Given the description of an element on the screen output the (x, y) to click on. 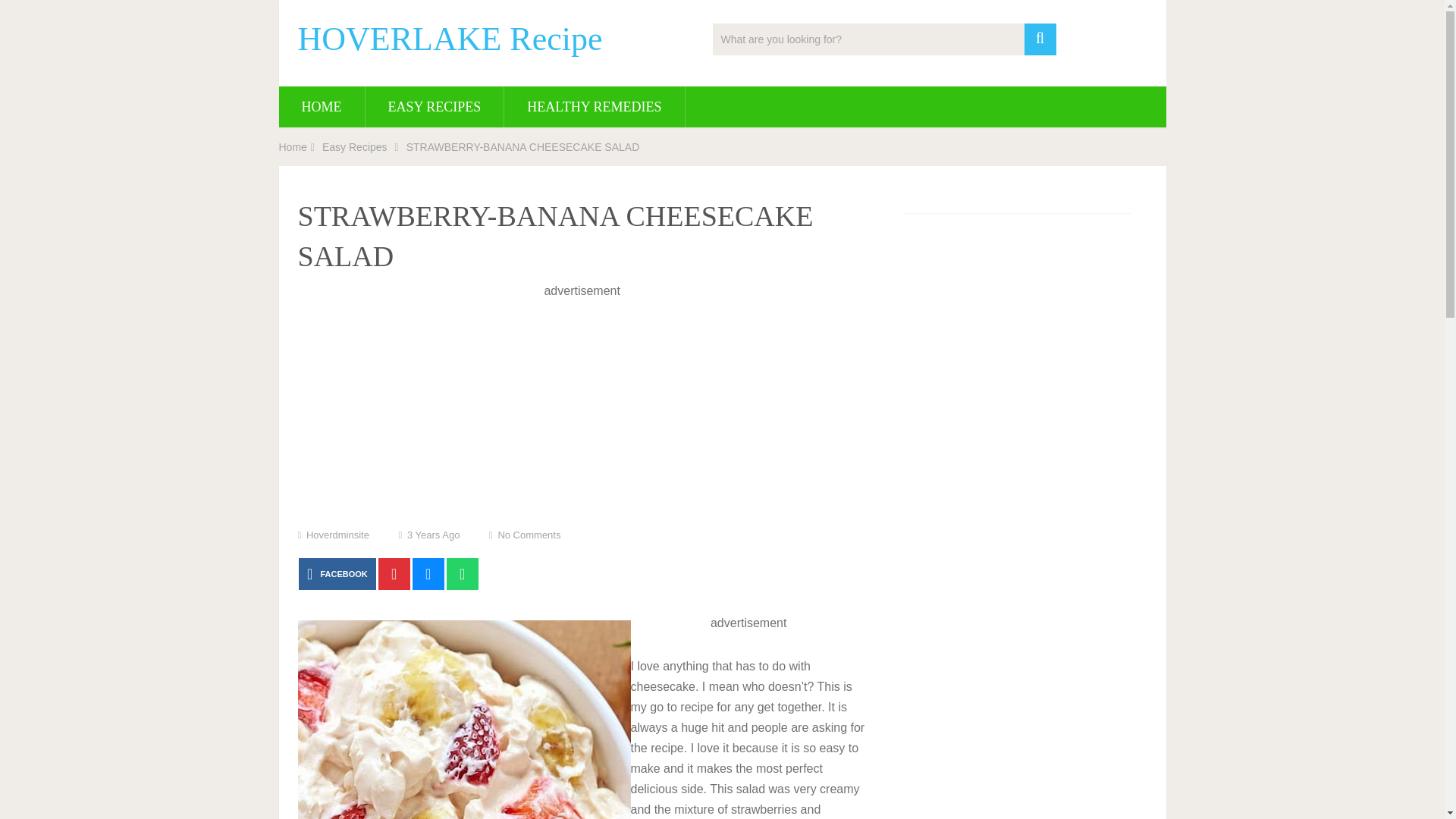
Home (293, 146)
Posts by hoverdminsite (337, 534)
EASY RECIPES (434, 106)
Hoverdminsite (337, 534)
HOVERLAKE Recipe (449, 39)
No Comments (528, 534)
FACEBOOK (336, 573)
HEALTHY REMEDIES (593, 106)
Easy Recipes (354, 146)
Advertisement (582, 407)
